Given the description of an element on the screen output the (x, y) to click on. 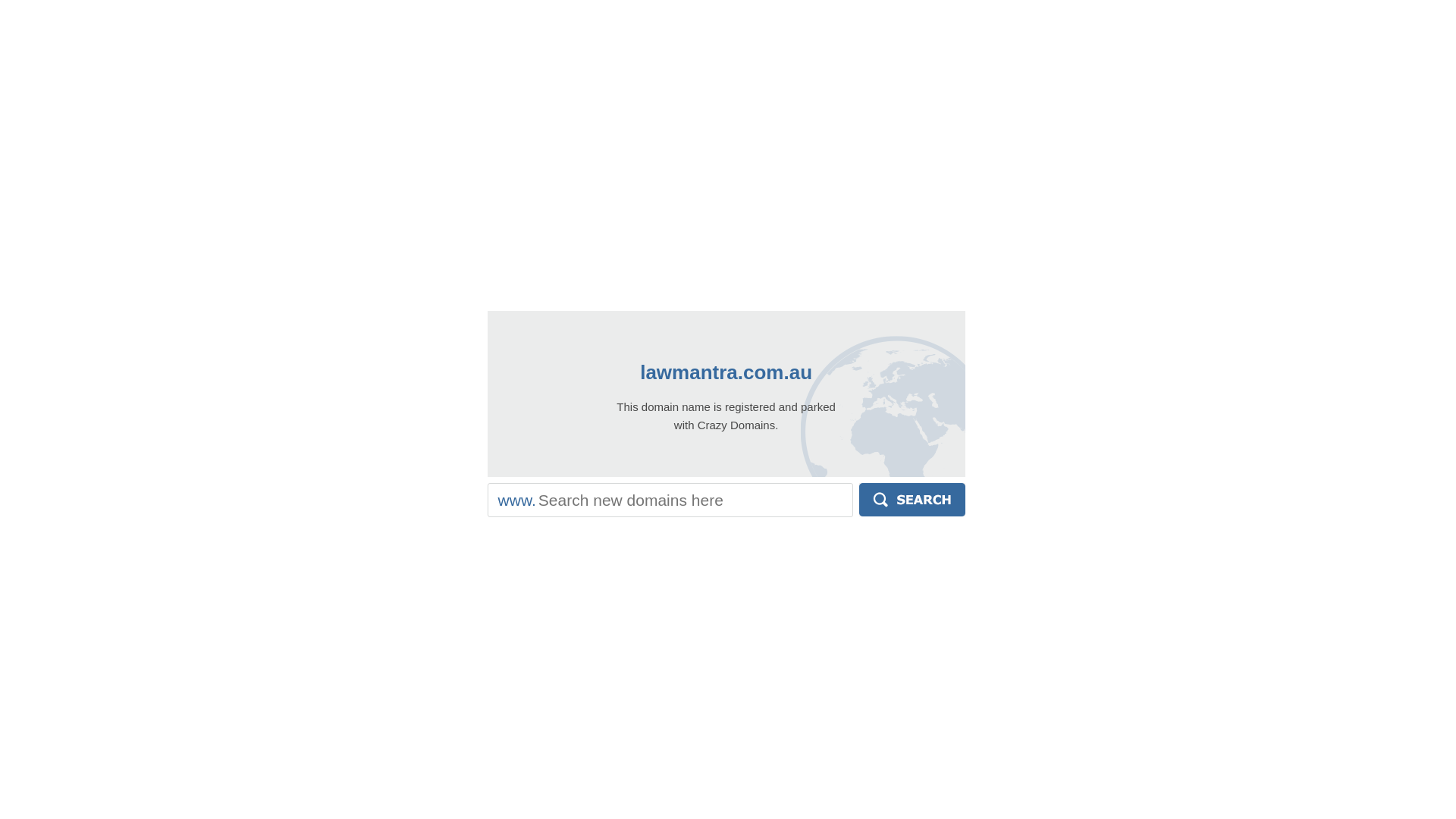
Search Element type: text (912, 499)
